Given the description of an element on the screen output the (x, y) to click on. 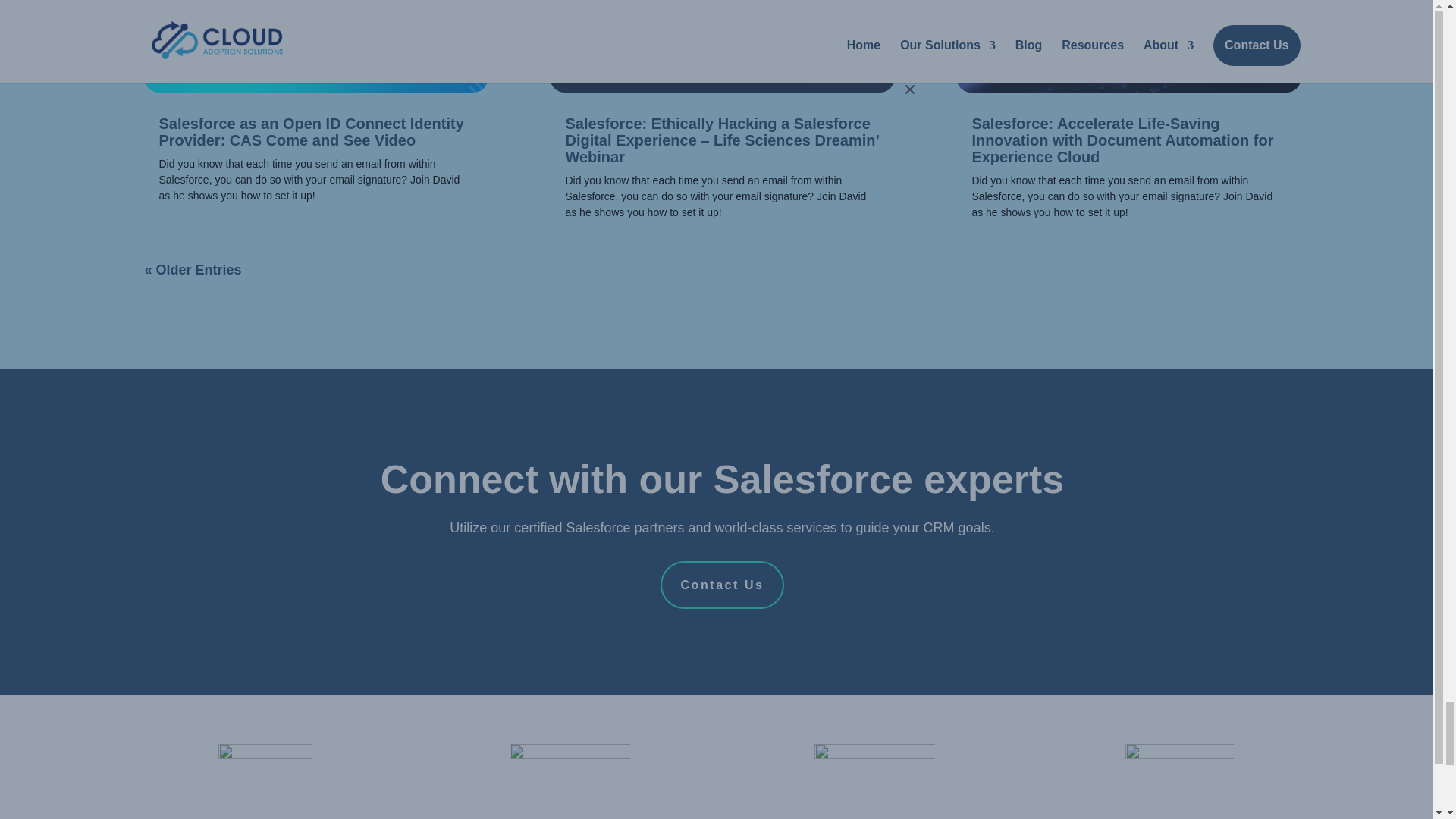
Salesforce-Talent-Alliance-Badge (569, 781)
EDWOSB-Certified (265, 781)
sfpartner-img (873, 781)
